Given the description of an element on the screen output the (x, y) to click on. 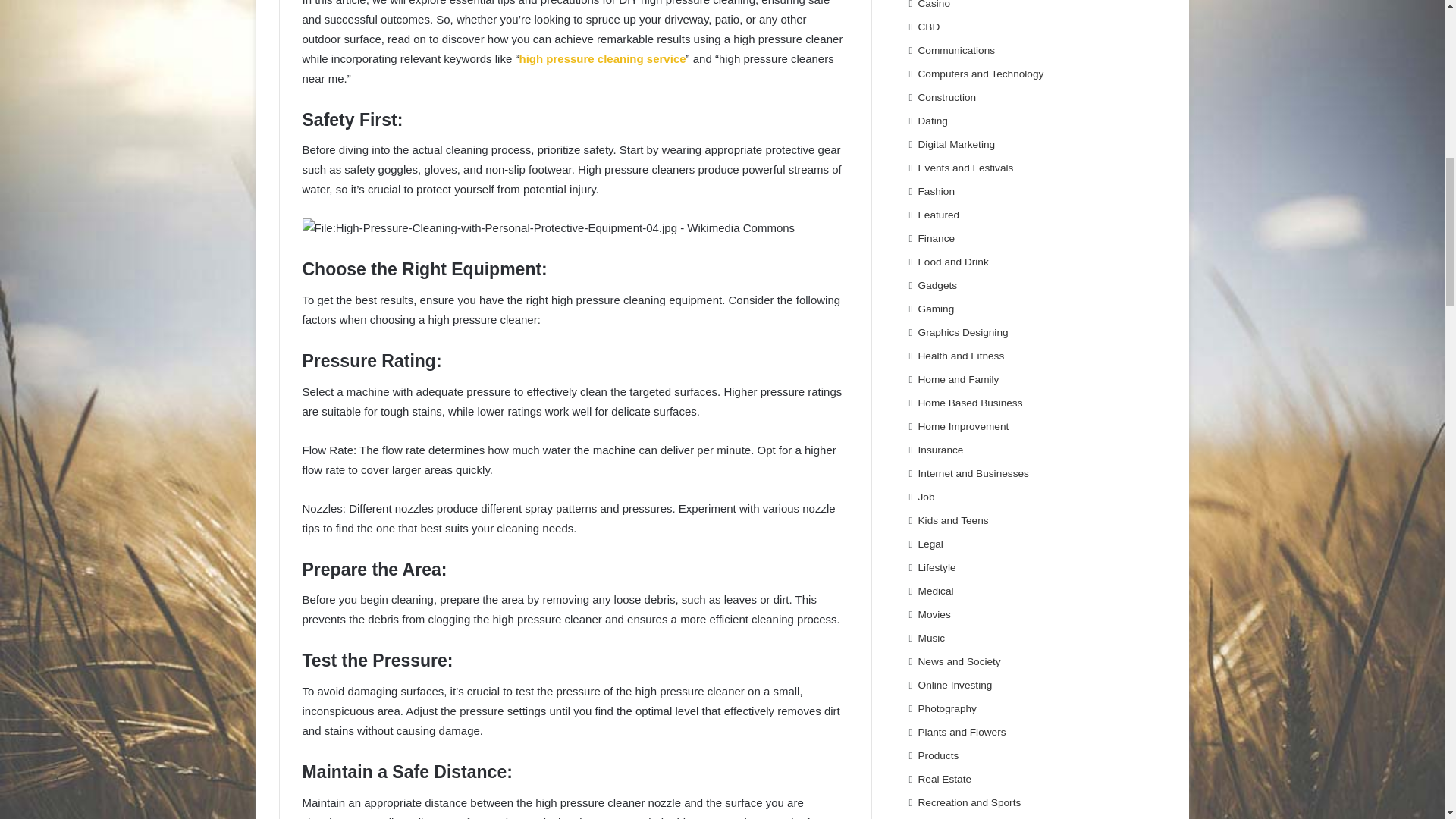
high pressure cleaning service (601, 58)
